Given the description of an element on the screen output the (x, y) to click on. 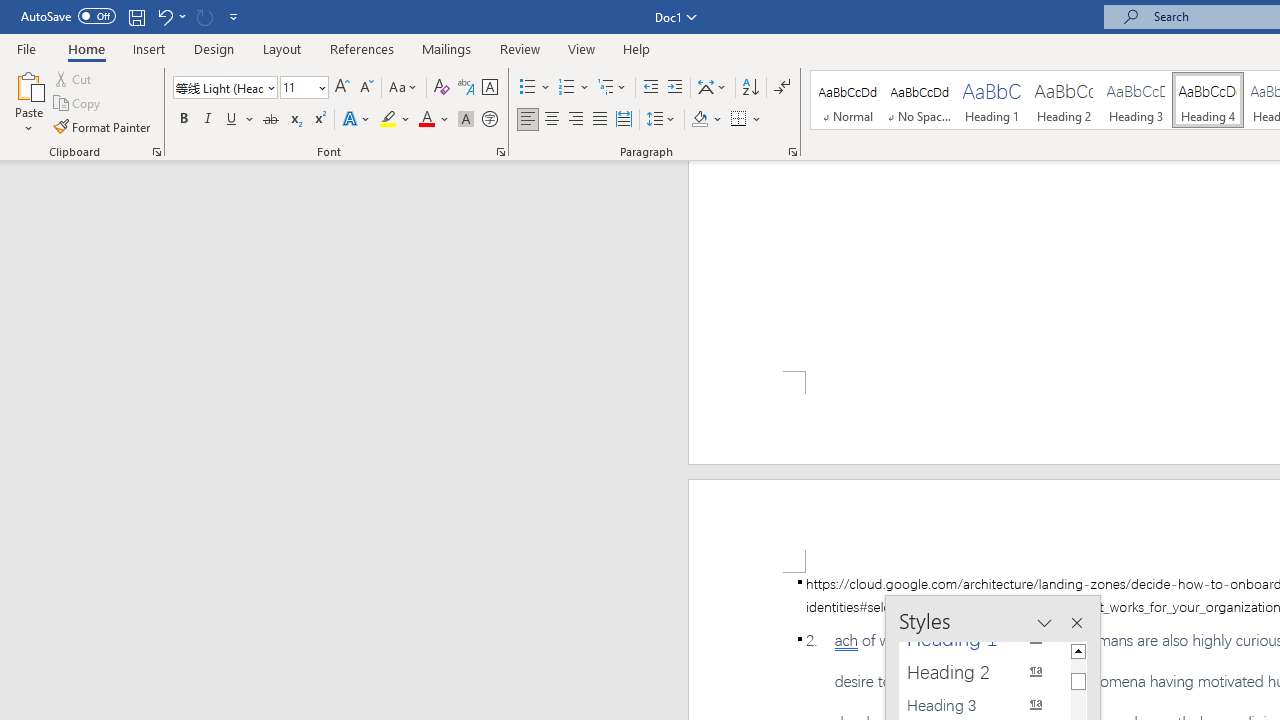
Asian Layout (712, 87)
Help (637, 48)
Shading (706, 119)
Shading RGB(0, 0, 0) (699, 119)
Font... (500, 151)
Borders (746, 119)
Cut (73, 78)
Multilevel List (613, 87)
Character Border (489, 87)
Increase Indent (675, 87)
Underline (239, 119)
Underline (232, 119)
Shrink Font (365, 87)
Mailings (447, 48)
